Given the description of an element on the screen output the (x, y) to click on. 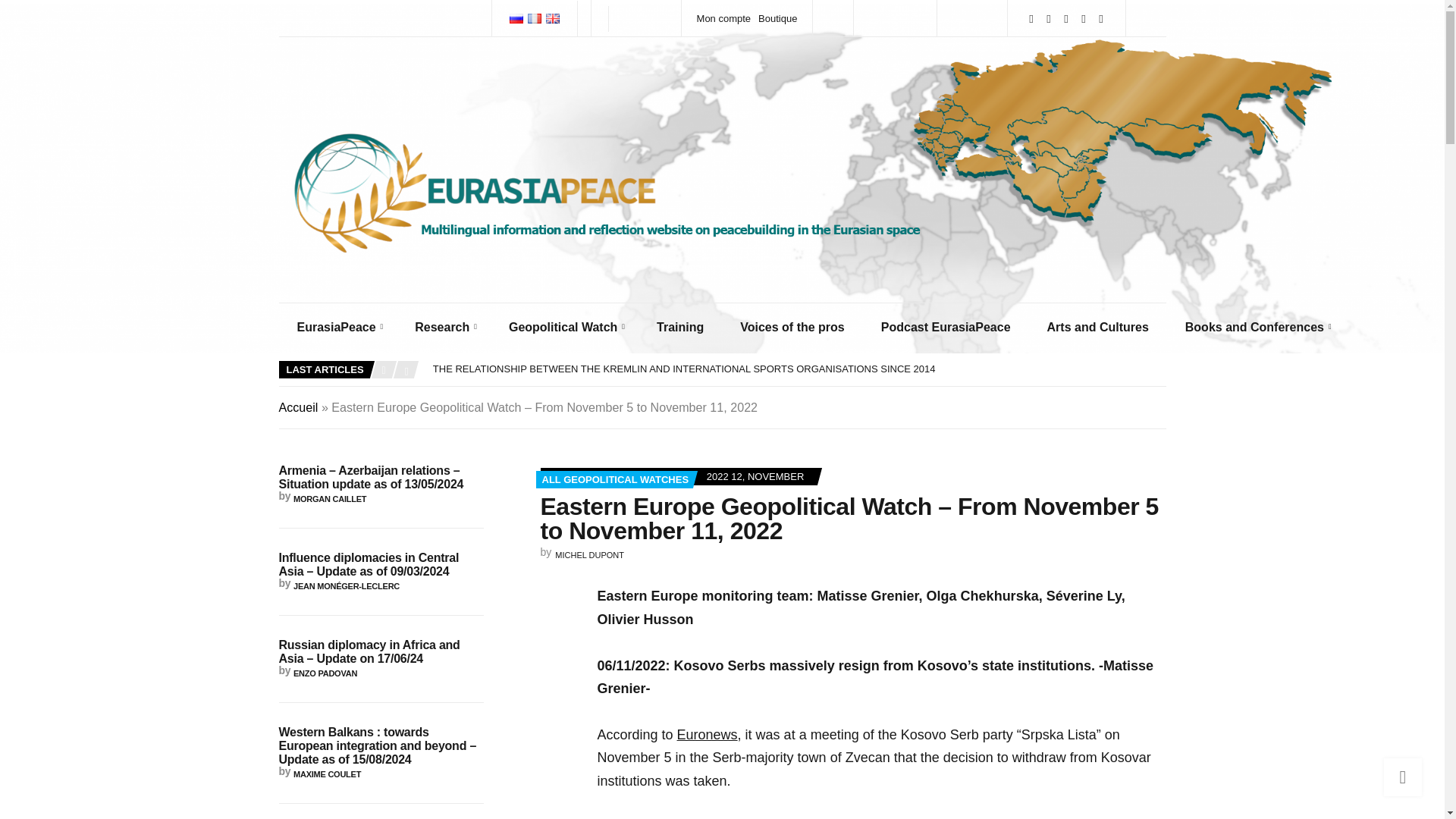
Posts by Maxime Coulet (327, 773)
Boutique (777, 18)
Facebook (1065, 18)
EurasiaPeace (338, 327)
X (1048, 18)
Geopolitical Watch (564, 327)
Research (443, 327)
LinkedIn (1030, 18)
Instagram (1083, 18)
Posts by Enzo Padovan (325, 673)
